Given the description of an element on the screen output the (x, y) to click on. 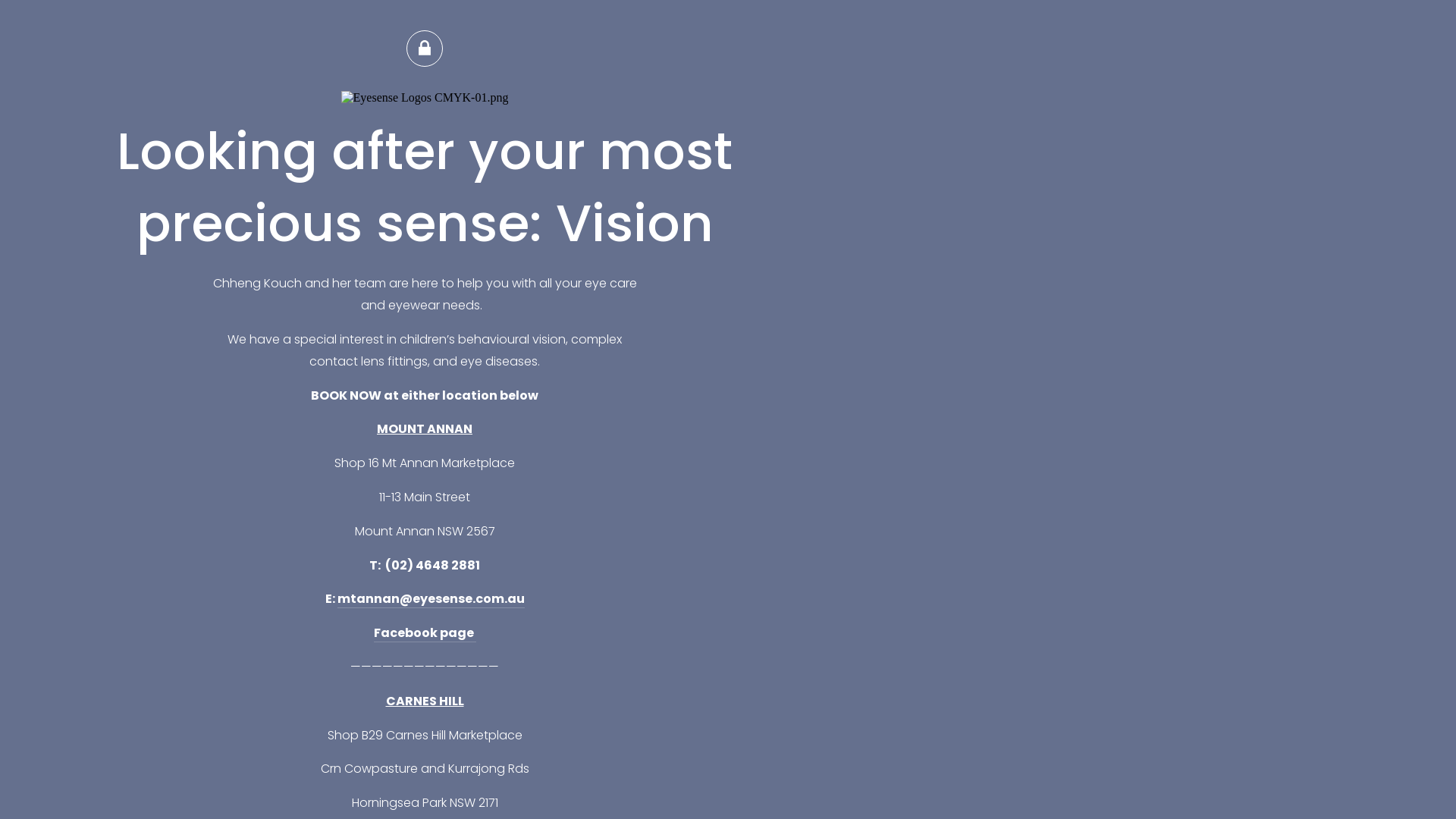
mtannan@eyesense.com.au Element type: text (430, 598)
Facebook page  Element type: text (424, 633)
